Given the description of an element on the screen output the (x, y) to click on. 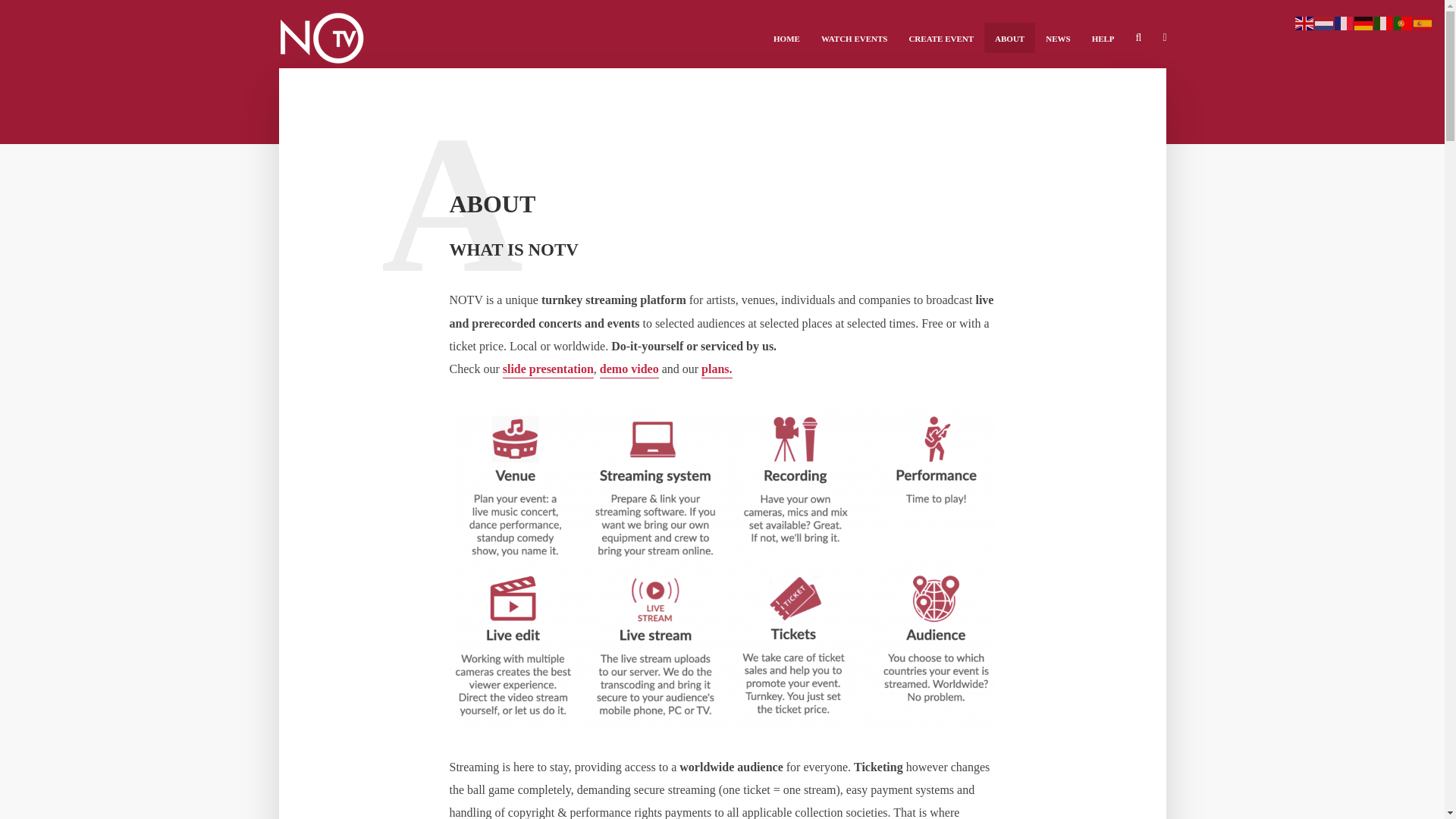
Spanish (1422, 21)
French (1344, 21)
NEWS (1057, 37)
ABOUT (1009, 37)
German (1364, 21)
HELP (1103, 37)
slide presentation (548, 370)
demo video (629, 370)
plans. (716, 370)
CREATE EVENT (941, 37)
HOME (786, 37)
Italian (1383, 21)
WATCH EVENTS (854, 37)
Dutch (1324, 21)
Portuguese (1403, 21)
